Given the description of an element on the screen output the (x, y) to click on. 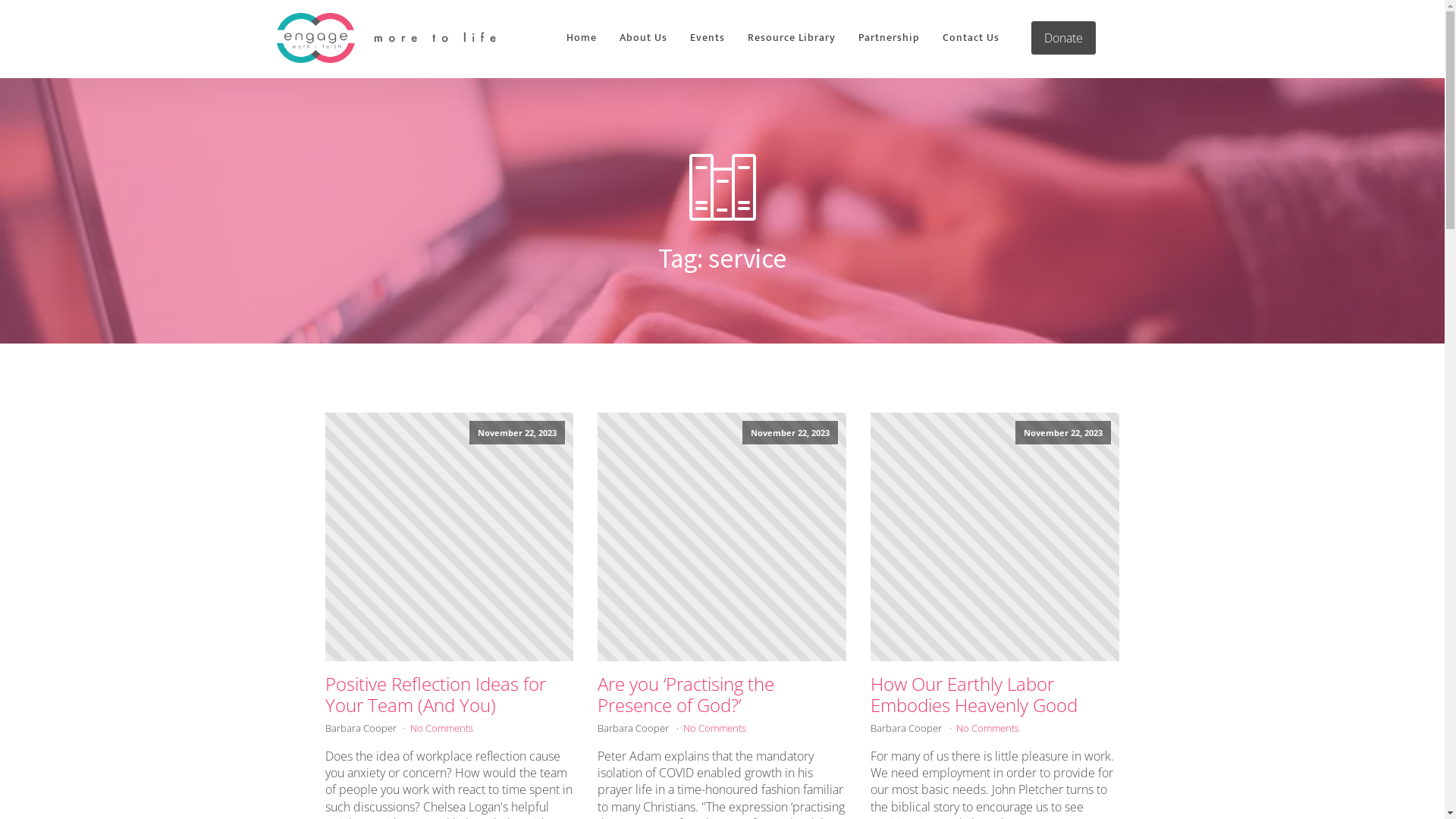
Donate Element type: text (1063, 37)
No Comments Element type: text (714, 727)
Positive Reflection Ideas for Your Team (And You) Element type: text (448, 695)
No Comments Element type: text (441, 727)
Events Element type: text (707, 37)
No Comments Element type: text (987, 727)
Contact Us Element type: text (971, 37)
About Us Element type: text (642, 37)
How Our Earthly Labor Embodies Heavenly Good Element type: text (994, 695)
Resource Library Element type: text (791, 37)
Home Element type: text (581, 37)
November 22, 2023 Element type: text (448, 536)
November 22, 2023 Element type: text (994, 536)
Partnership Element type: text (888, 37)
November 22, 2023 Element type: text (721, 536)
